Given the description of an element on the screen output the (x, y) to click on. 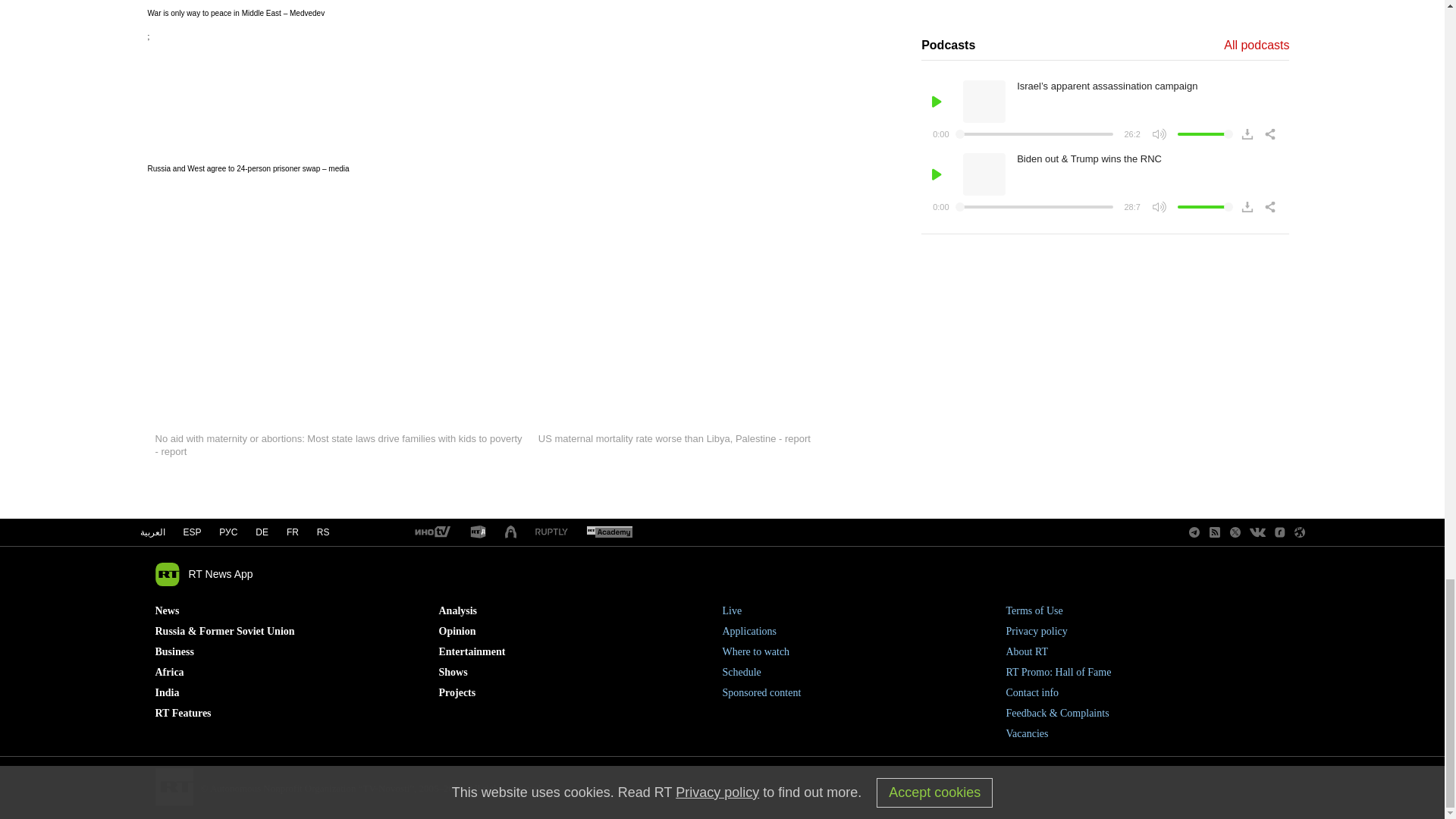
RT  (478, 532)
RT  (551, 532)
RT  (431, 532)
RT  (608, 532)
